Given the description of an element on the screen output the (x, y) to click on. 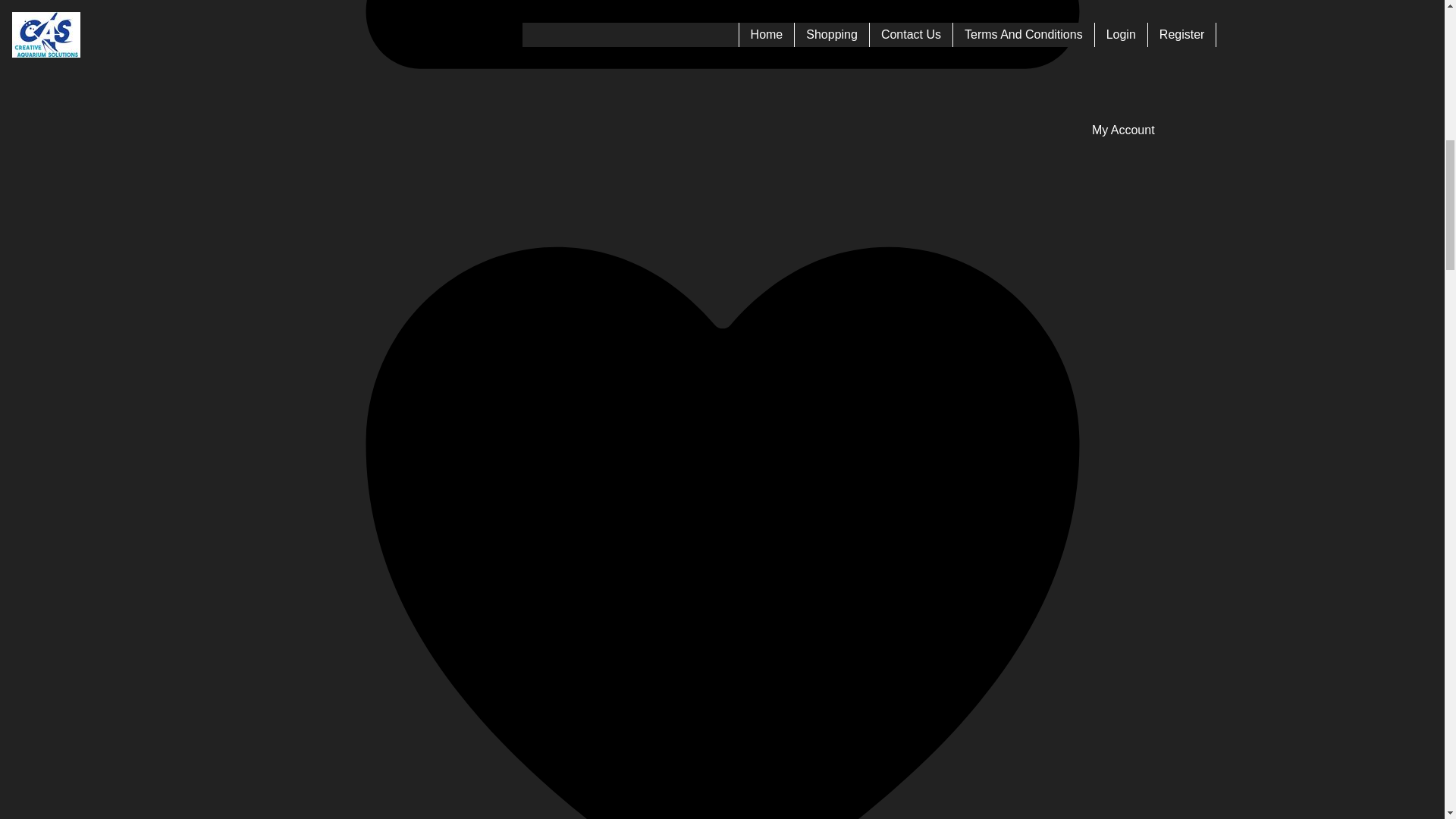
My Account (722, 68)
